Given the description of an element on the screen output the (x, y) to click on. 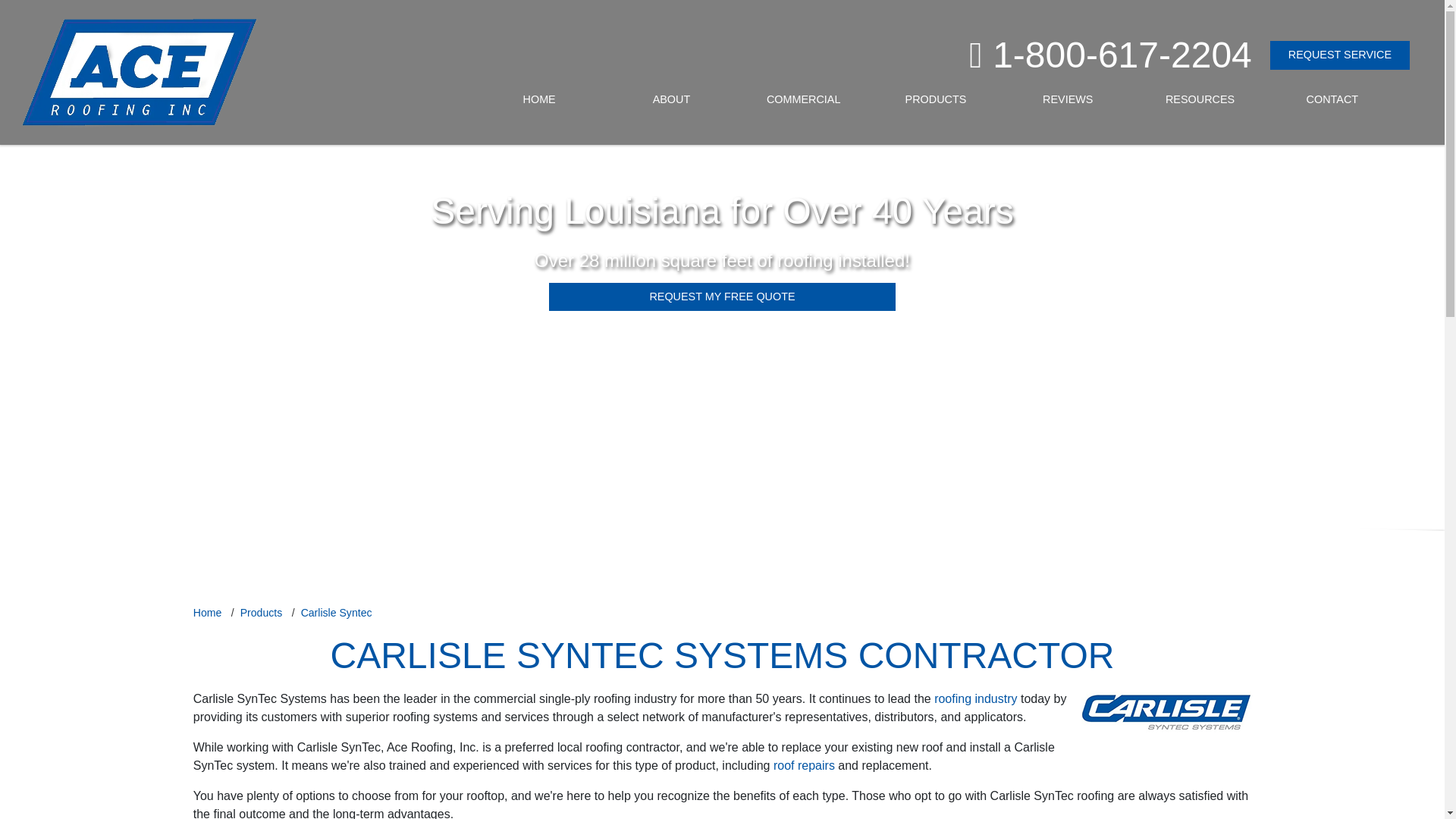
REQUEST SERVICE (1339, 54)
ABOUT (670, 99)
HOME (539, 99)
1-800-617-2204 (1119, 55)
